Given the description of an element on the screen output the (x, y) to click on. 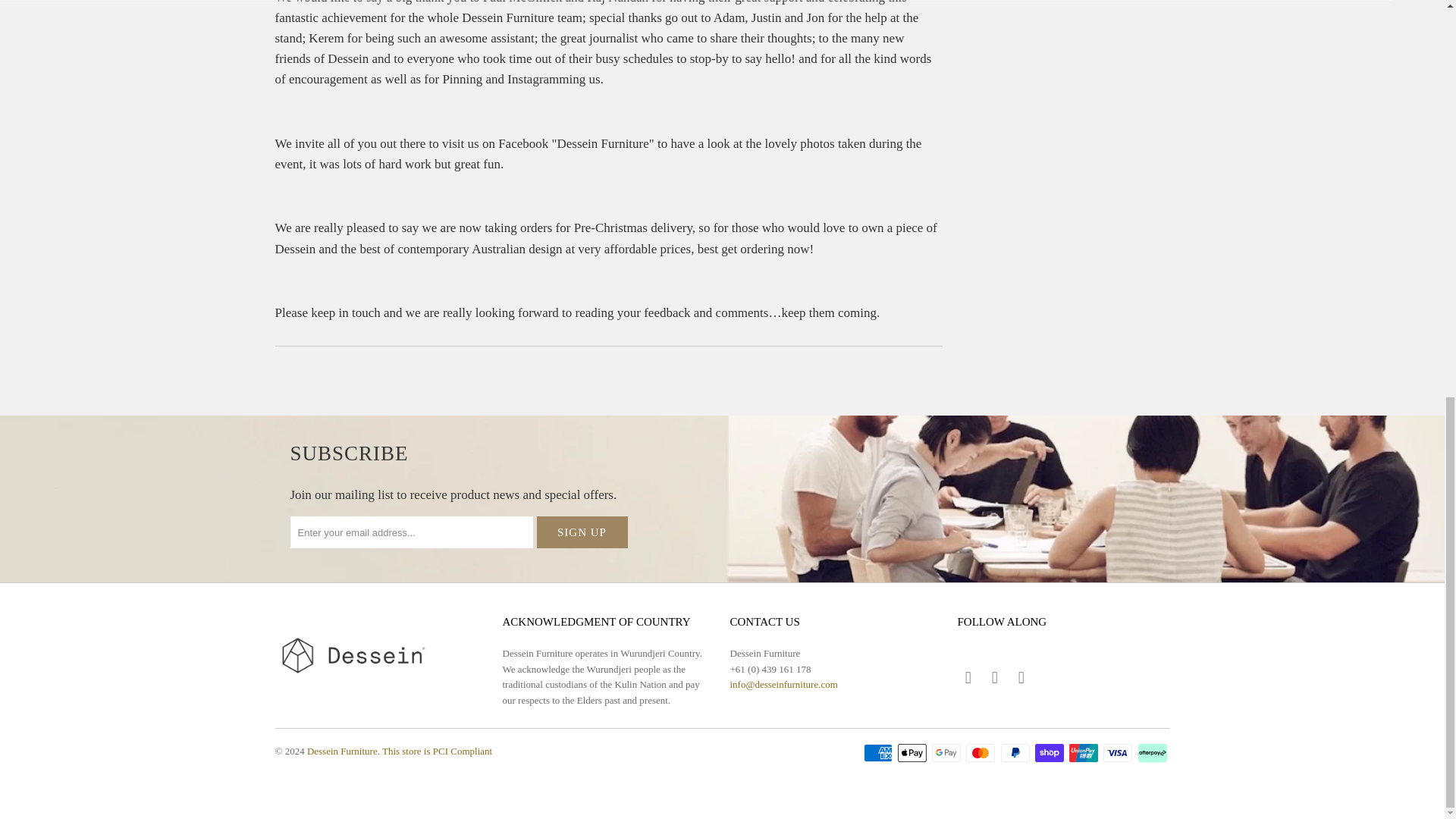
Sign Up (582, 531)
